Given the description of an element on the screen output the (x, y) to click on. 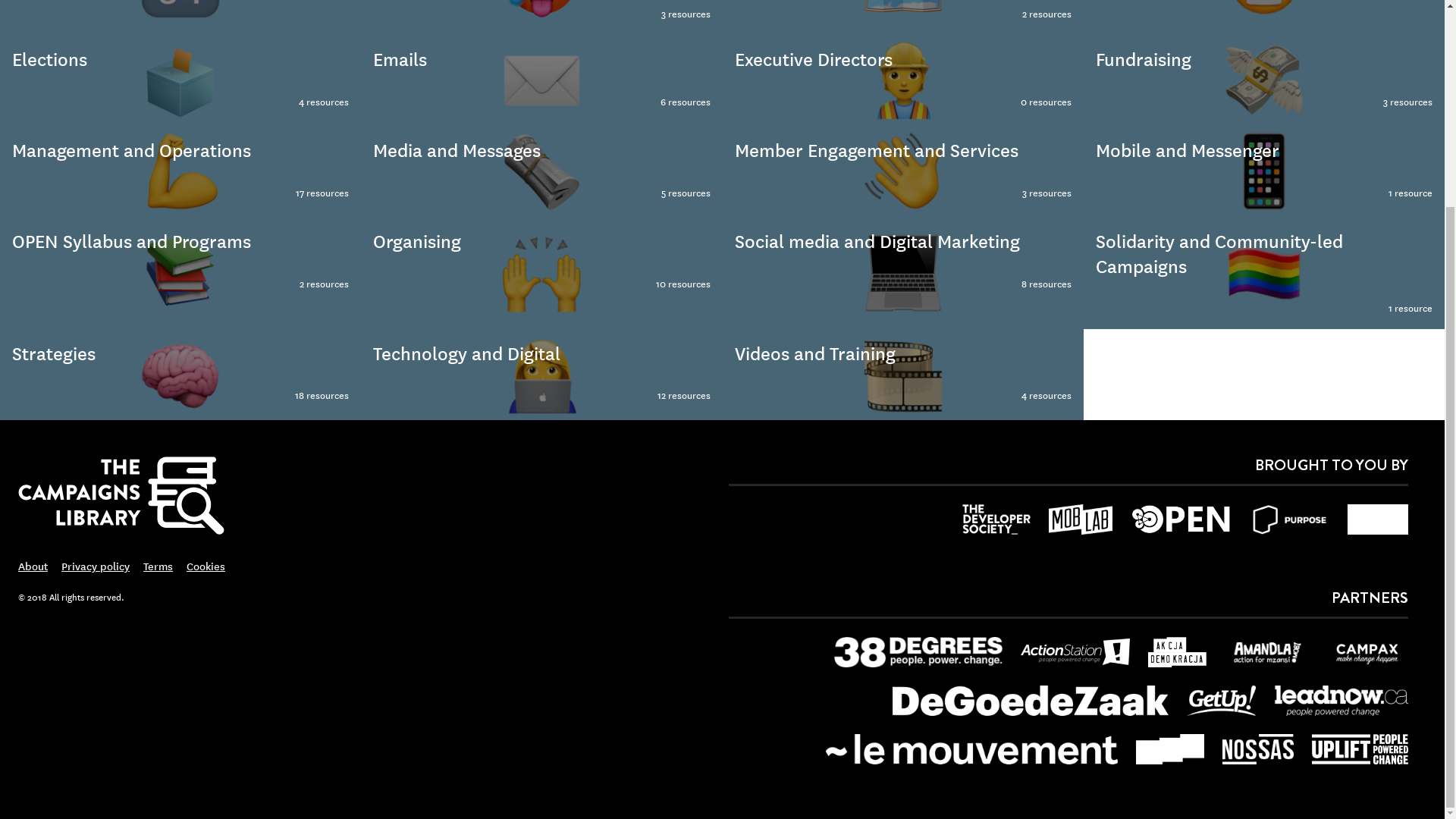
The Campaigns Library (180, 17)
